Given the description of an element on the screen output the (x, y) to click on. 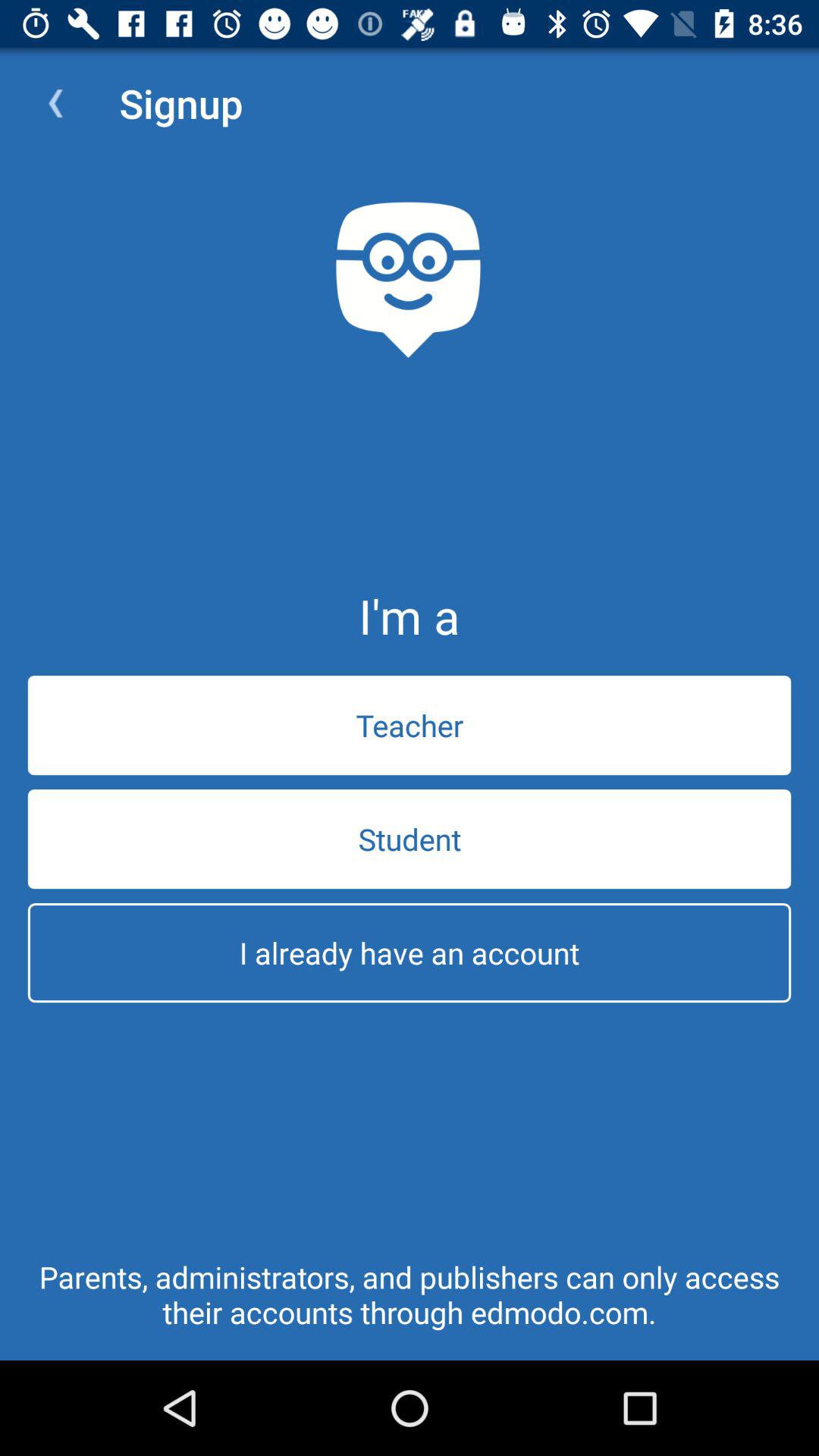
jump until student item (409, 838)
